Given the description of an element on the screen output the (x, y) to click on. 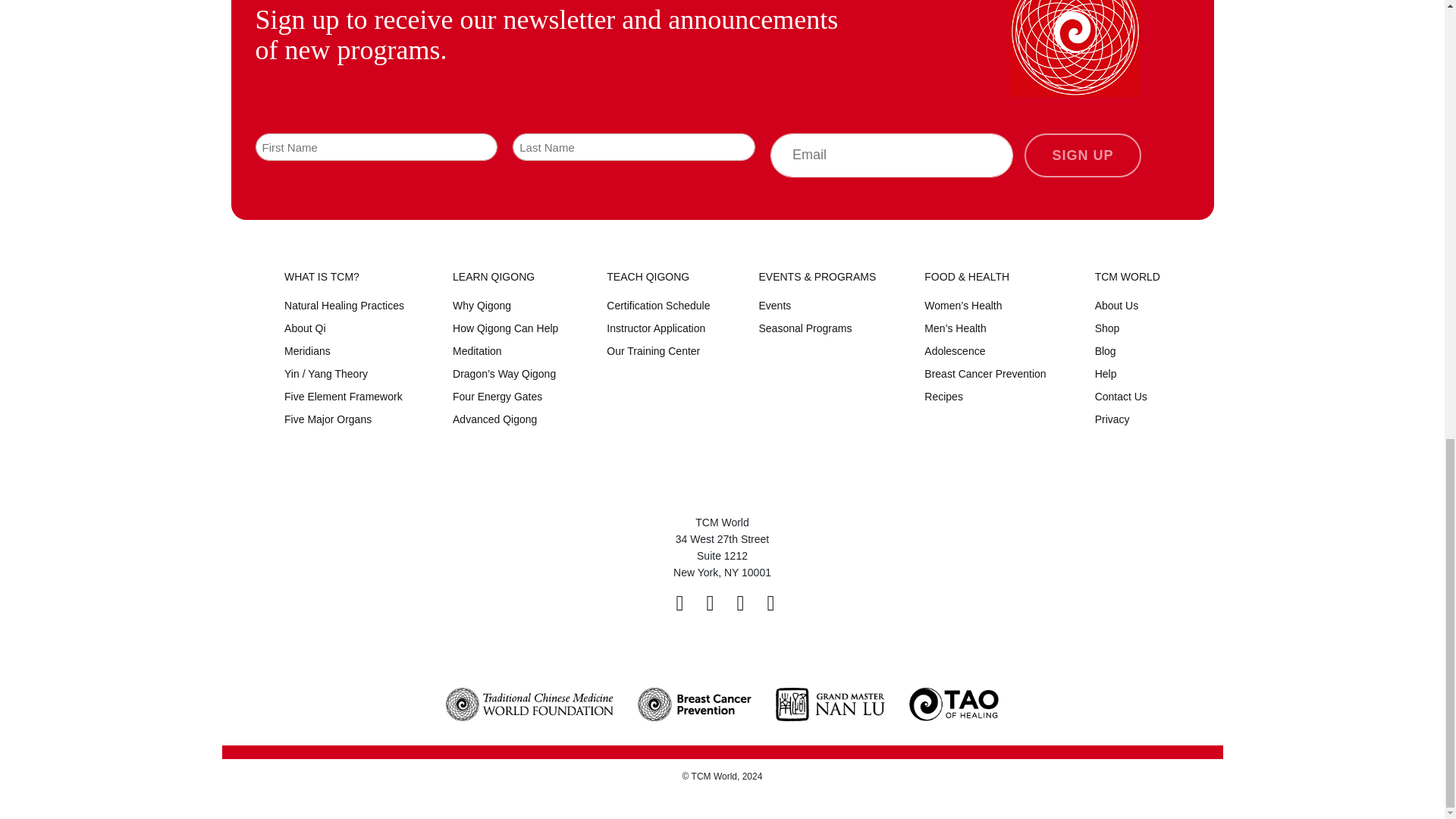
Sign up (1082, 155)
